Given the description of an element on the screen output the (x, y) to click on. 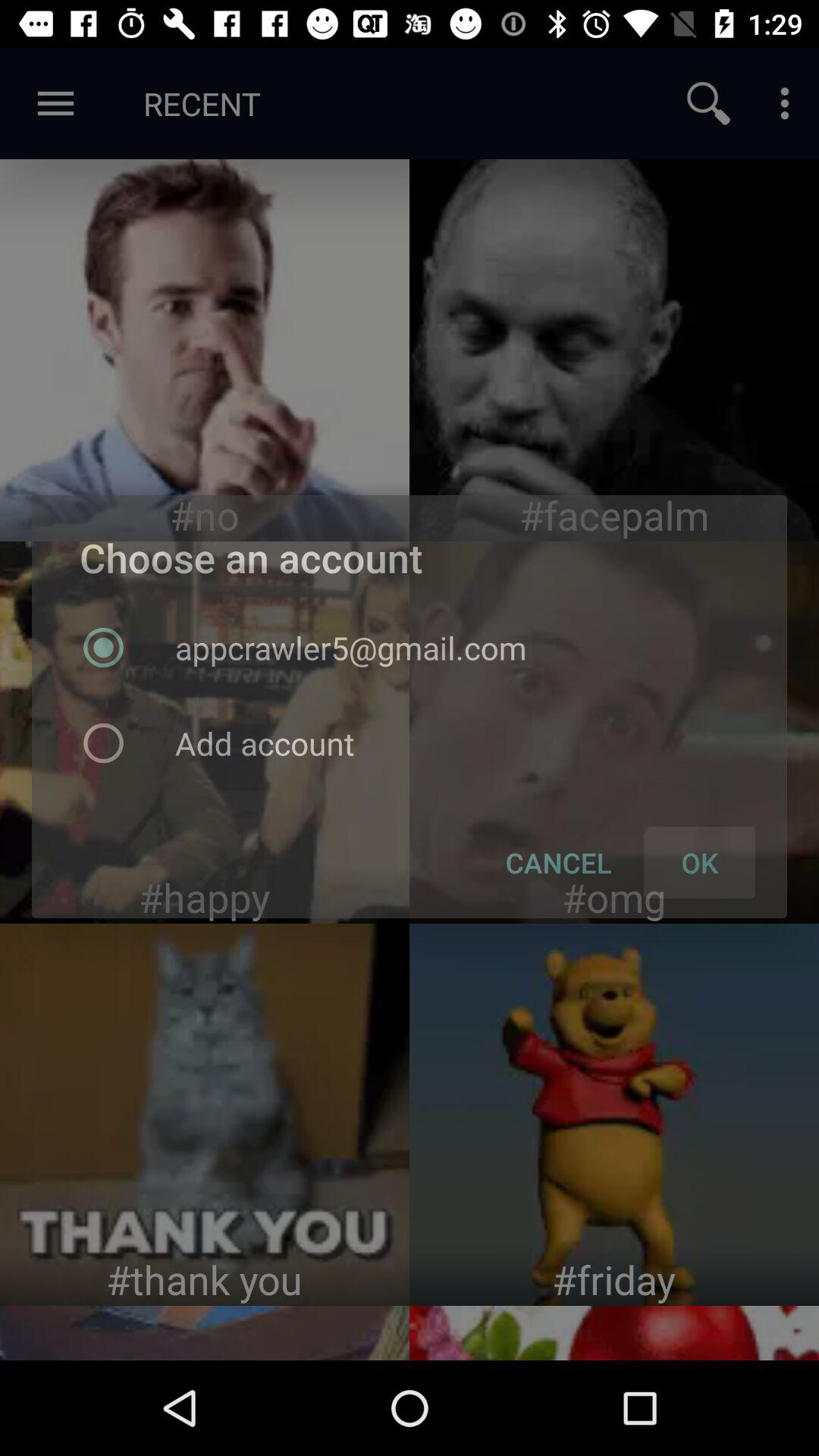
select page website (614, 1332)
